Given the description of an element on the screen output the (x, y) to click on. 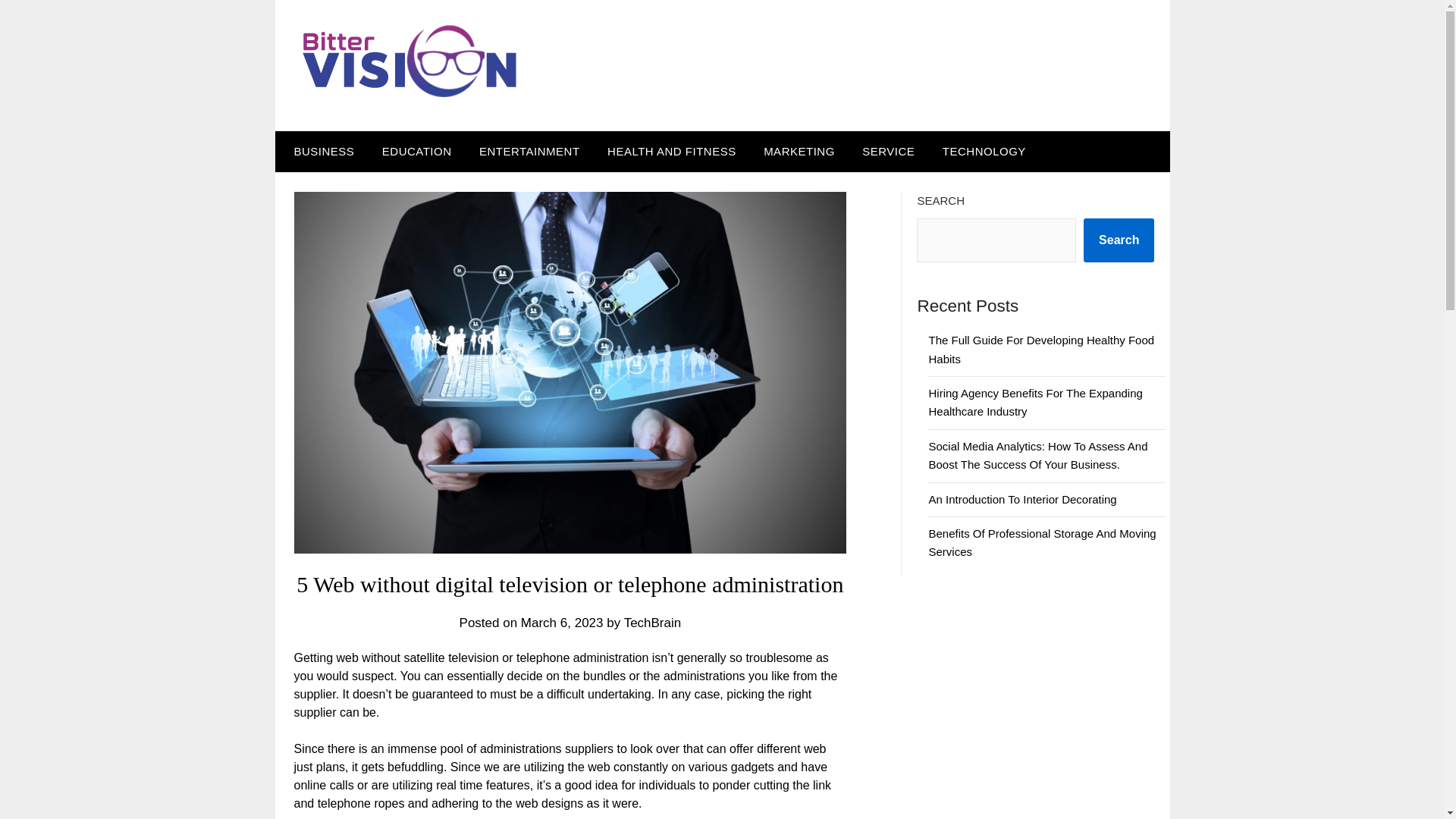
EDUCATION (416, 151)
SERVICE (888, 151)
ENTERTAINMENT (529, 151)
HEALTH AND FITNESS (671, 151)
Benefits Of Professional Storage And Moving Services  (1042, 542)
March 6, 2023 (562, 622)
TECHNOLOGY (984, 151)
Hiring Agency Benefits For The Expanding Healthcare Industry (1034, 401)
The Full Guide For Developing Healthy Food Habits  (1041, 348)
Search (1118, 240)
MARKETING (799, 151)
An Introduction To Interior Decorating (1022, 499)
BUSINESS (320, 151)
TechBrain (652, 622)
